Given the description of an element on the screen output the (x, y) to click on. 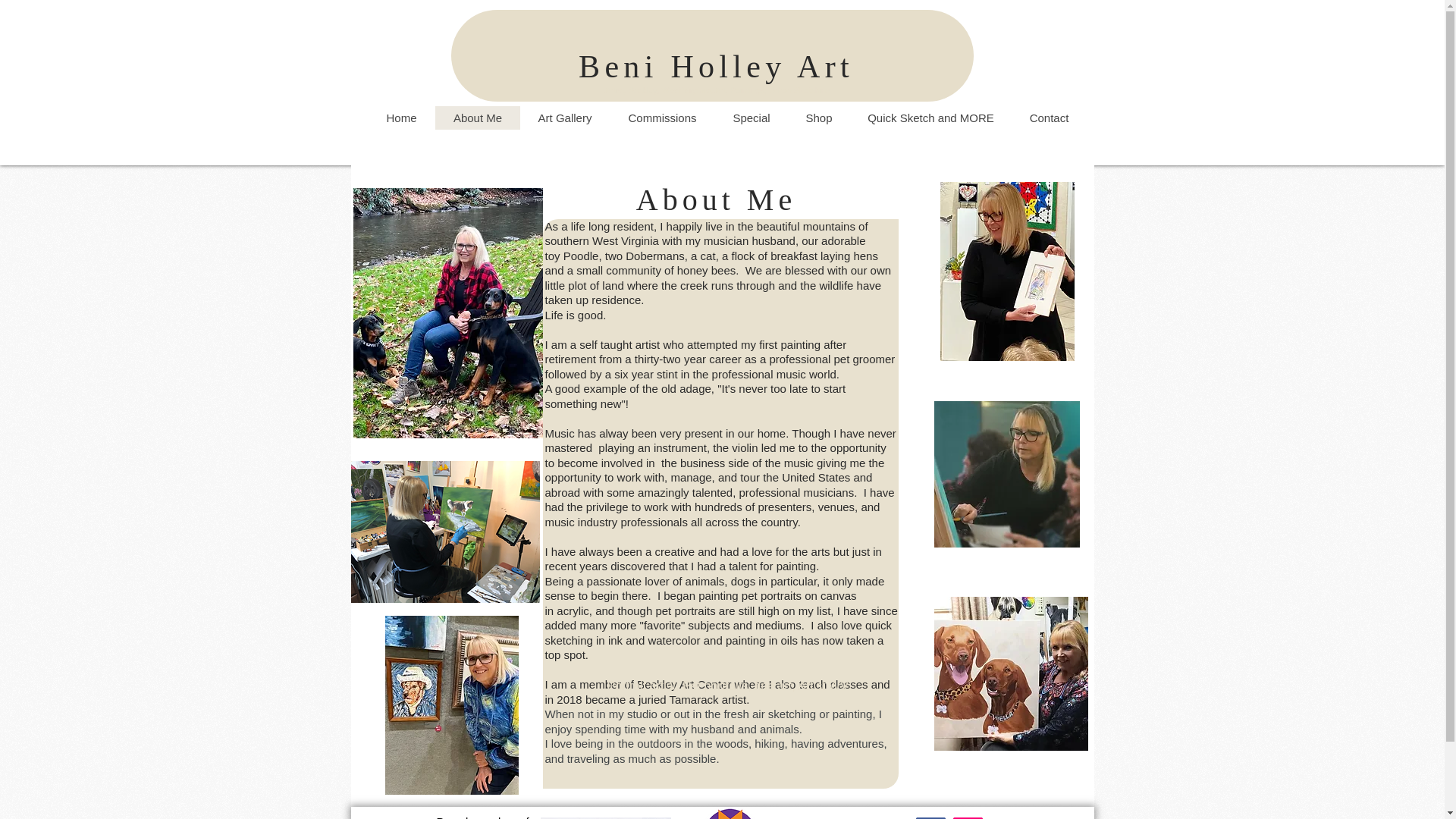
Quick Sketch and MORE (929, 117)
Contact (1048, 117)
Shop (817, 117)
Special (750, 117)
Home (401, 117)
About Me (477, 117)
Art Gallery (564, 117)
Commissions (662, 117)
